Given the description of an element on the screen output the (x, y) to click on. 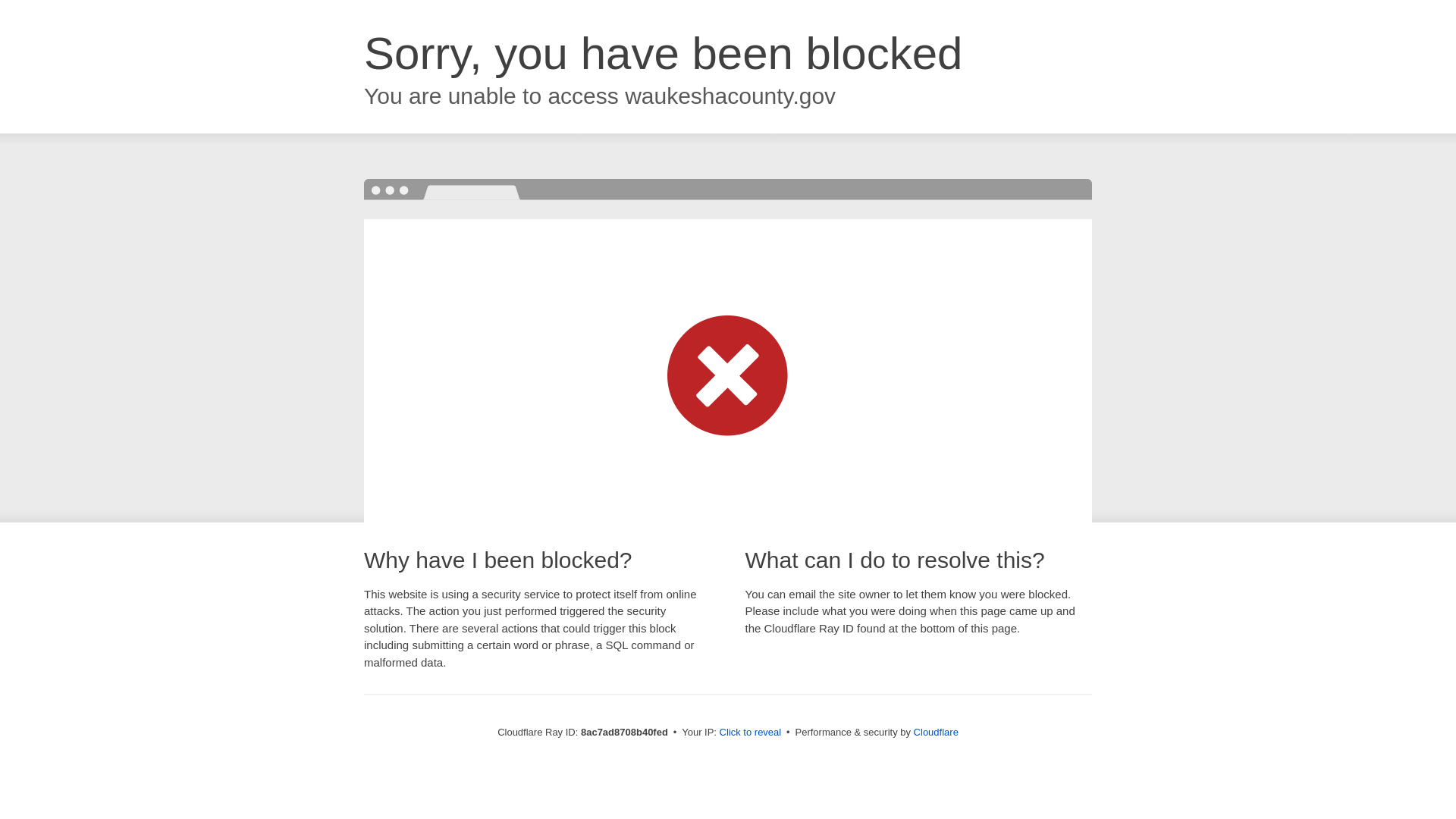
Click to reveal (750, 732)
Cloudflare (936, 731)
